Given the description of an element on the screen output the (x, y) to click on. 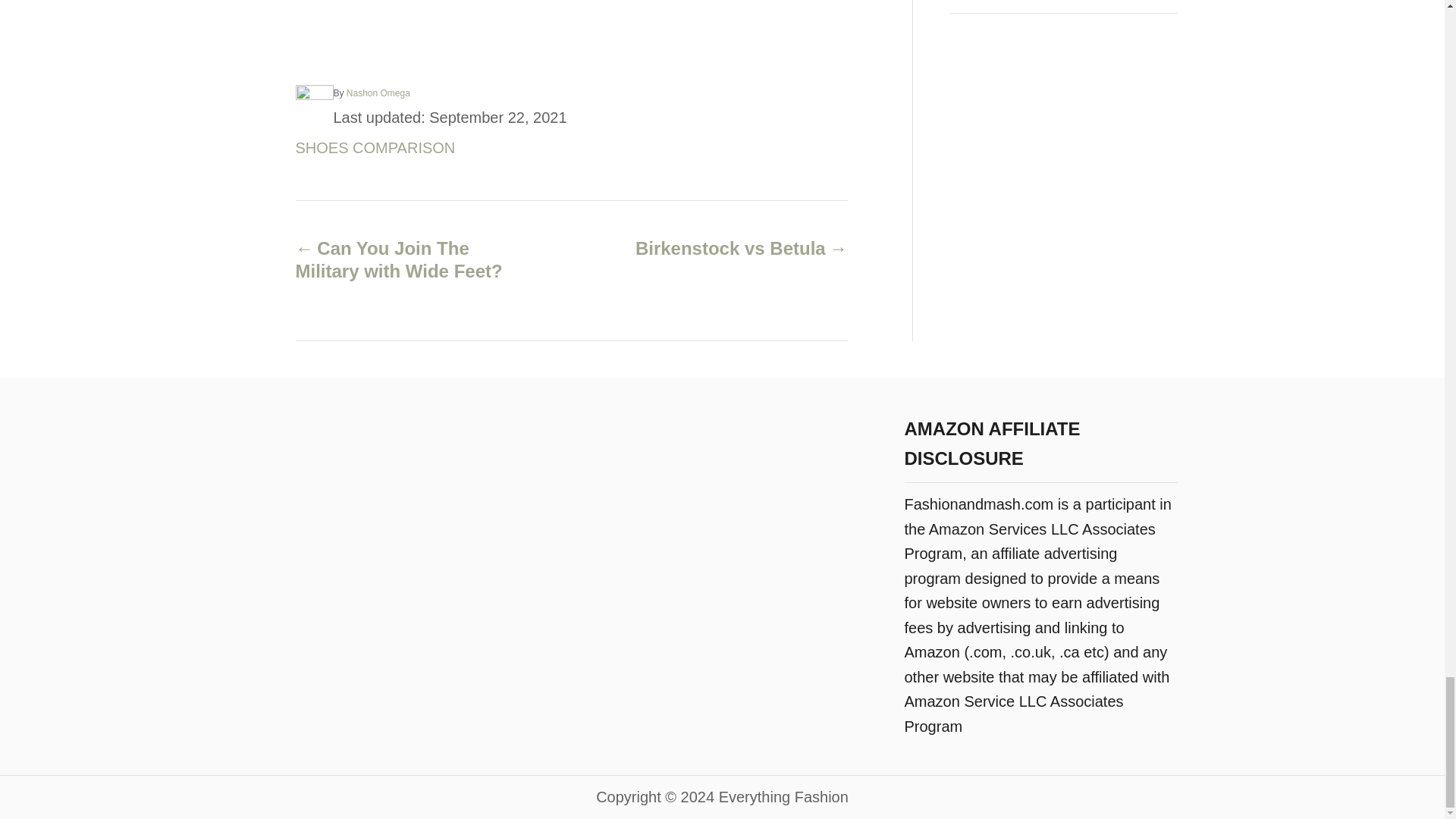
Birkenstock vs Betula (736, 248)
SHOES COMPARISON (375, 147)
Can You Join The Military with Wide Feet? (405, 259)
Nashon Omega (378, 92)
